Given the description of an element on the screen output the (x, y) to click on. 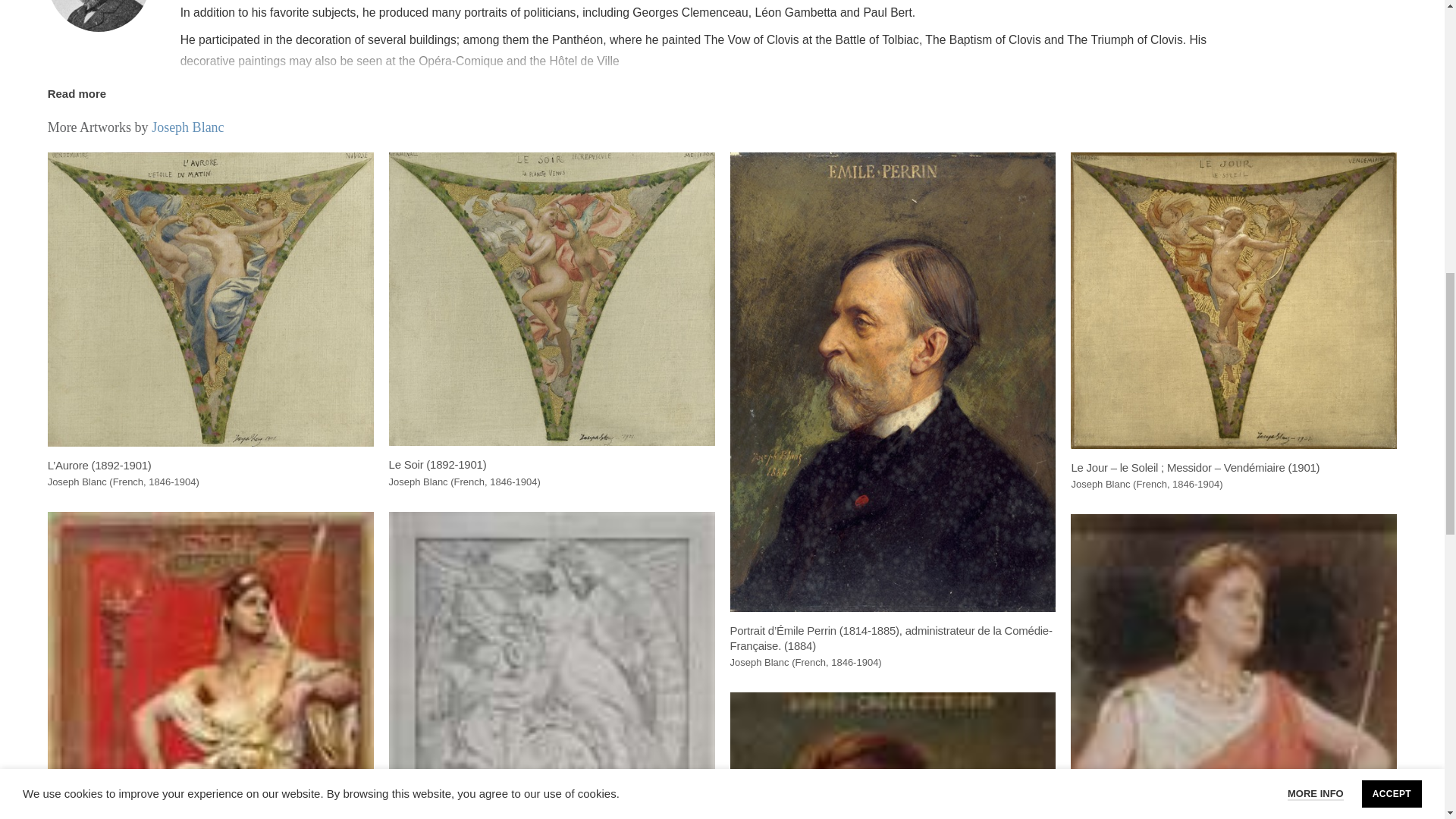
Joseph Blanc (98, 15)
